Given the description of an element on the screen output the (x, y) to click on. 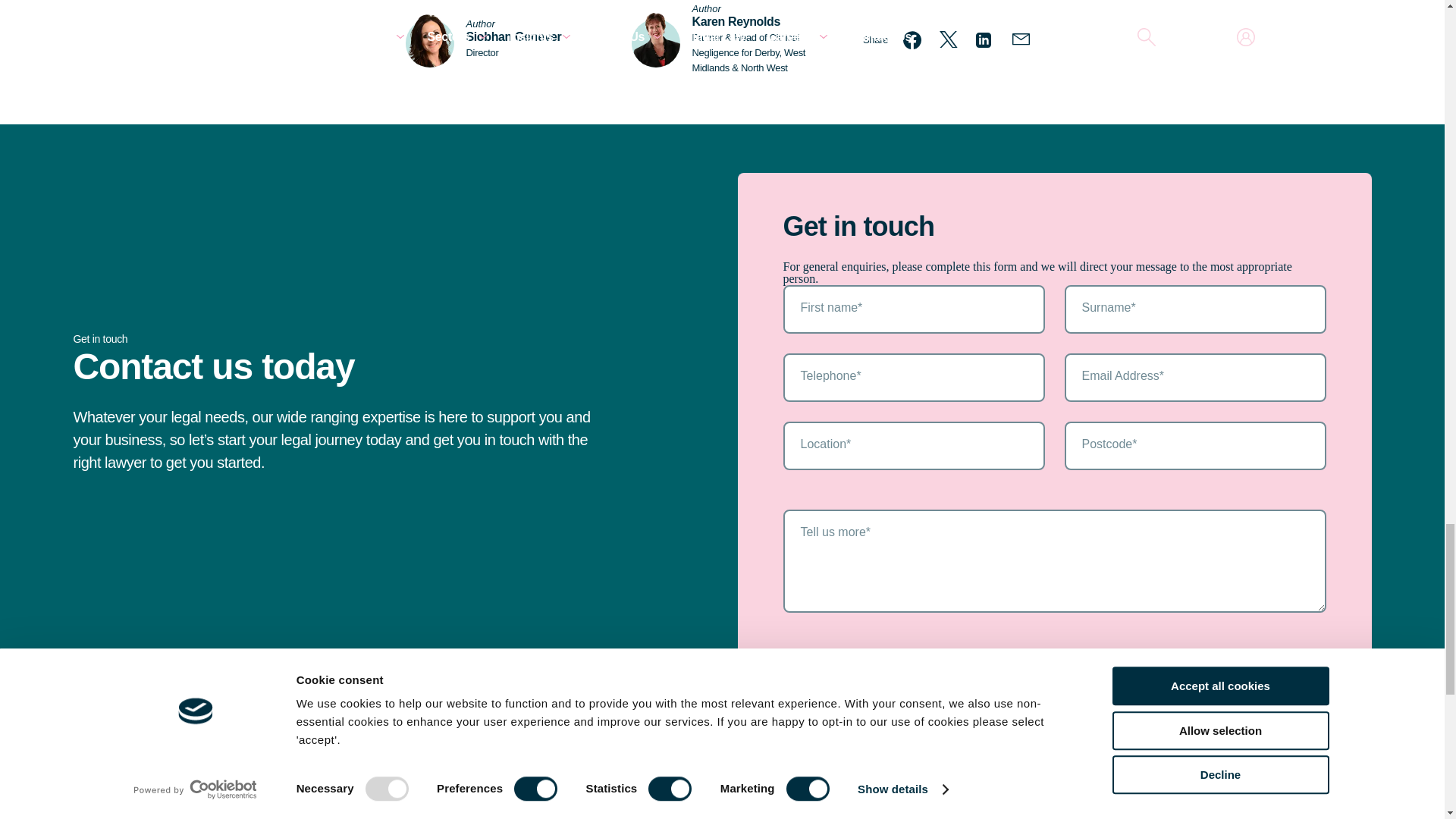
Share via LinkedIn (984, 40)
Share (875, 40)
Share via X (948, 40)
Share via Facebook (911, 40)
Share via email (1021, 40)
